Given the description of an element on the screen output the (x, y) to click on. 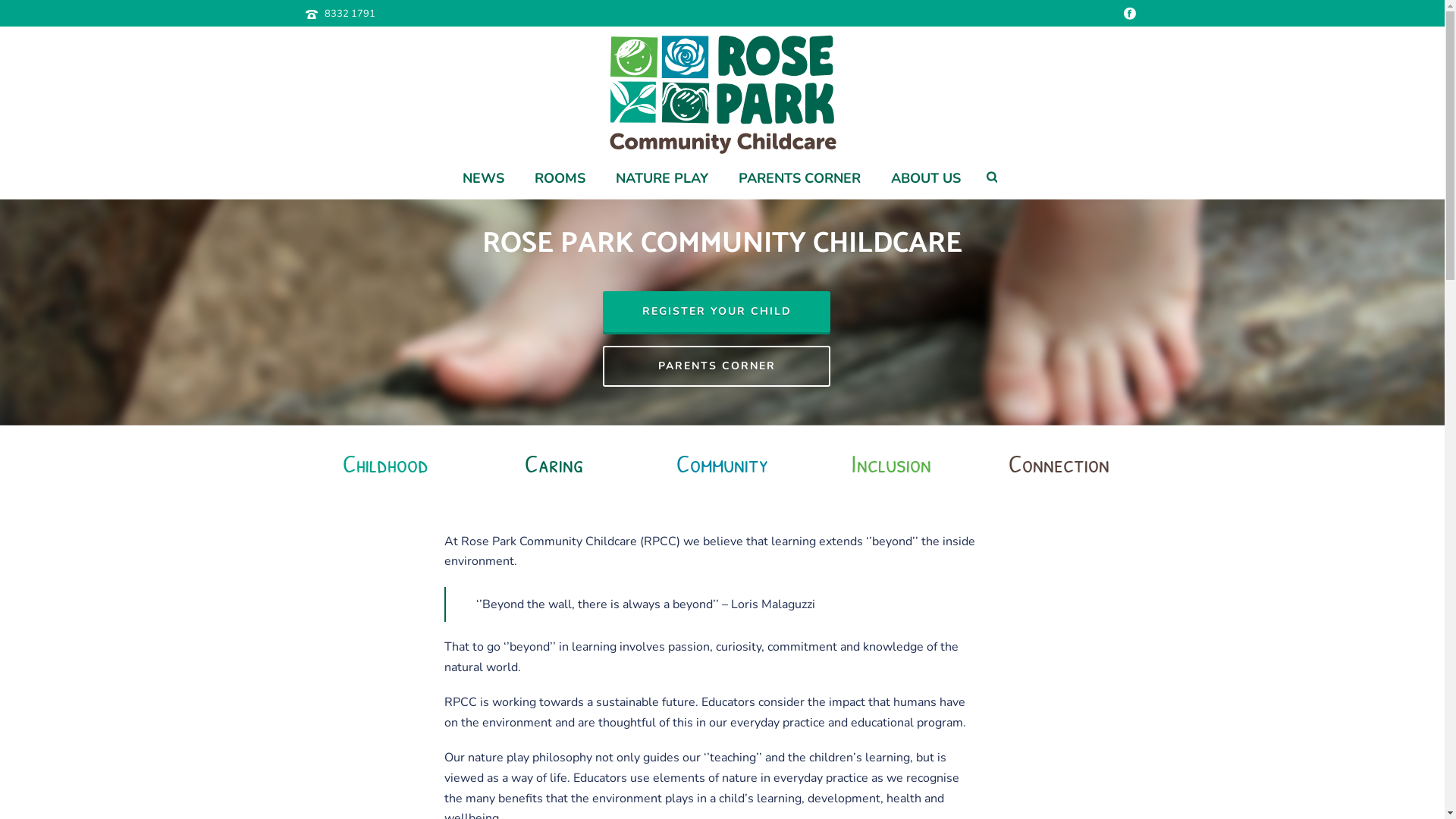
Rose Park Community Childcare Element type: hover (722, 92)
REGISTER YOUR CHILD Element type: text (716, 311)
NATURE PLAY Element type: text (661, 179)
ABOUT US Element type: text (925, 179)
NEWS Element type: text (483, 179)
PARENTS CORNER Element type: text (799, 179)
PARENTS CORNER Element type: text (716, 365)
8332 1791 Element type: text (349, 13)
ROOMS Element type: text (559, 179)
